Given the description of an element on the screen output the (x, y) to click on. 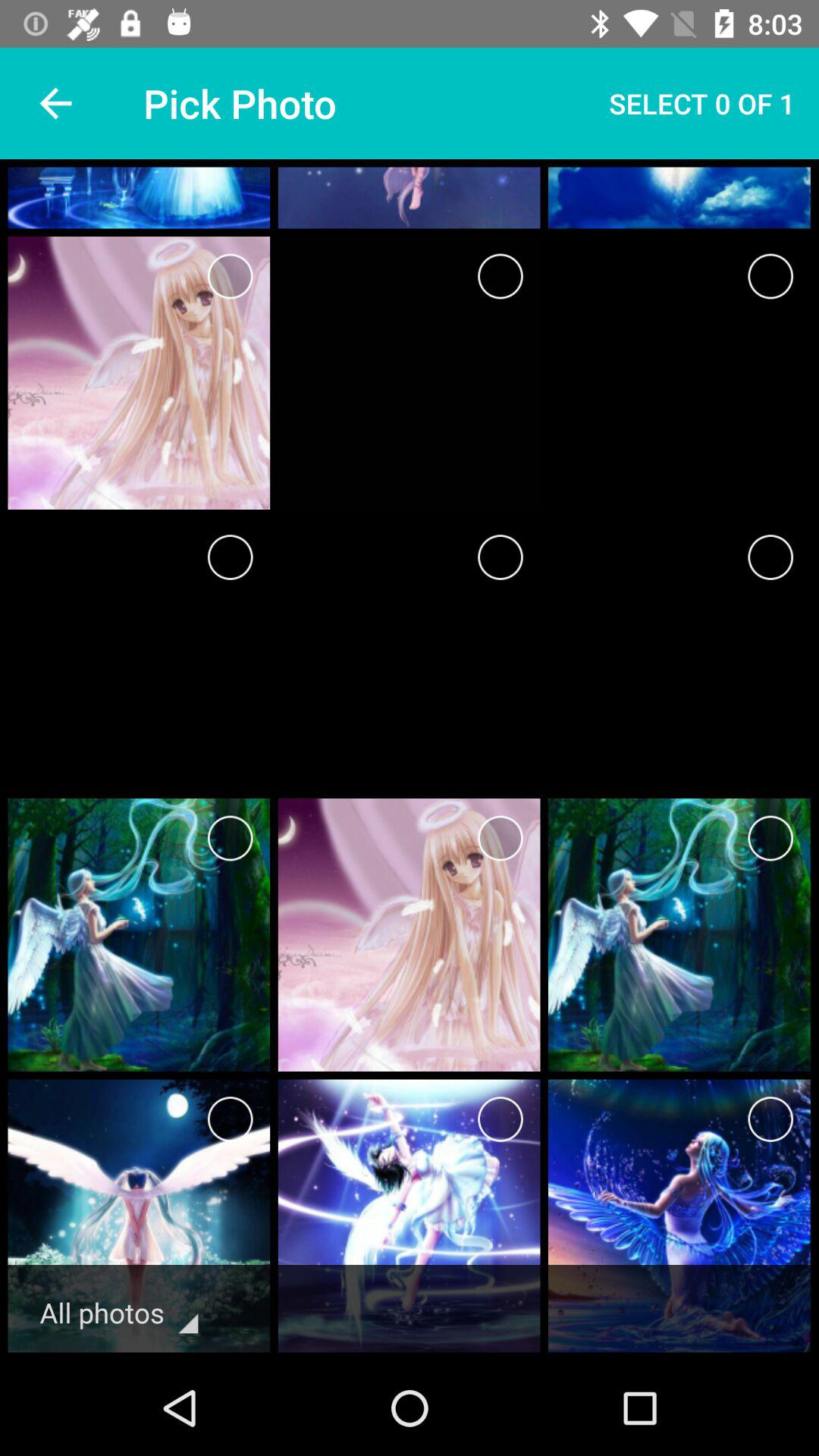
radio button (500, 557)
